Given the description of an element on the screen output the (x, y) to click on. 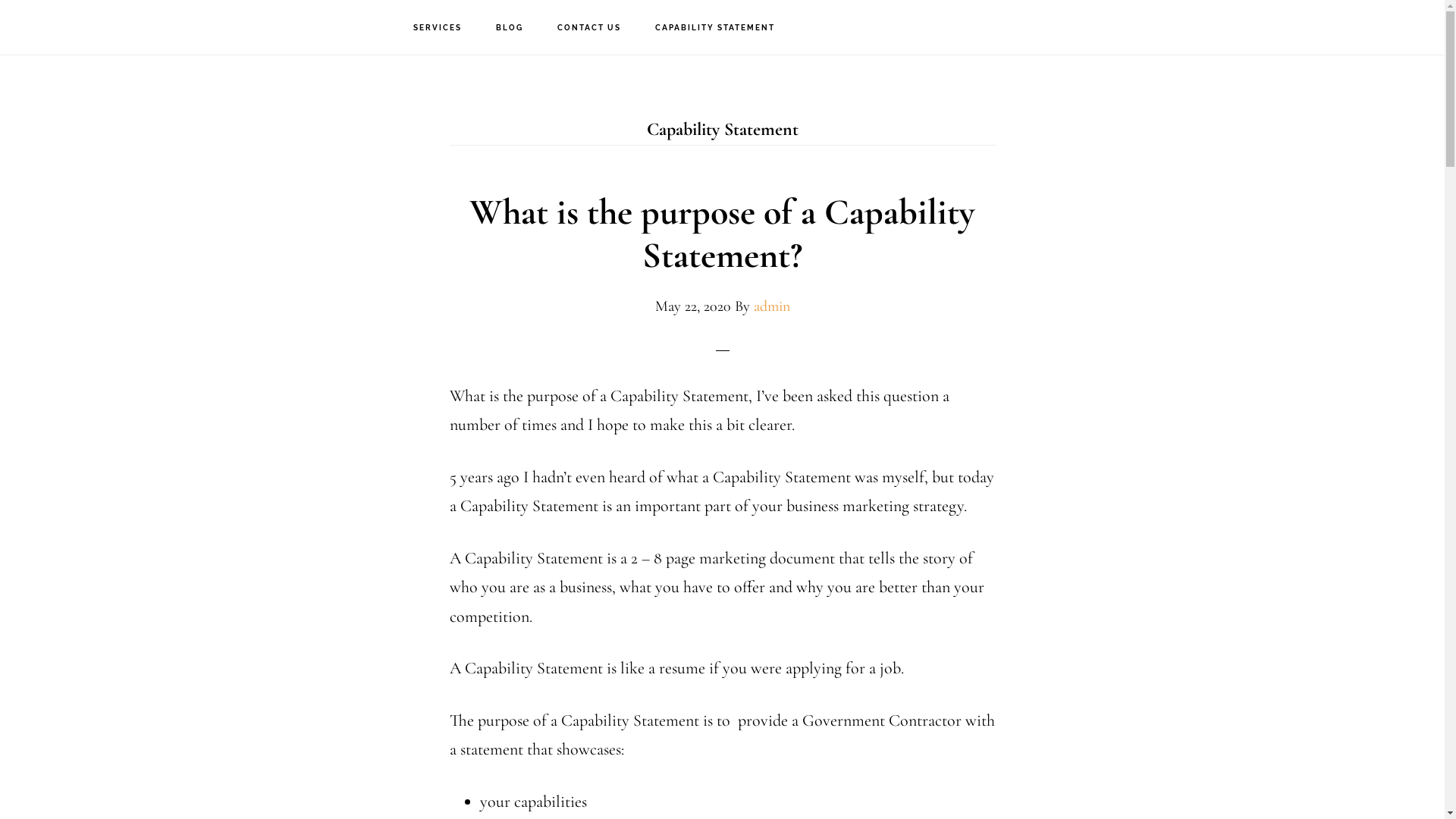
WEB DESIGN, SOCIAL MEDIA MARKETING Element type: text (98, 26)
CONTACT US Element type: text (589, 27)
What is the purpose of a Capability Statement? Element type: text (722, 233)
SHOW OFFSCREEN CONTENT Element type: text (1420, 14)
CAPABILITY STATEMENT Element type: text (715, 27)
BLOG Element type: text (509, 27)
admin Element type: text (771, 306)
Skip to main content Element type: text (0, 0)
SERVICES Element type: text (437, 27)
